Given the description of an element on the screen output the (x, y) to click on. 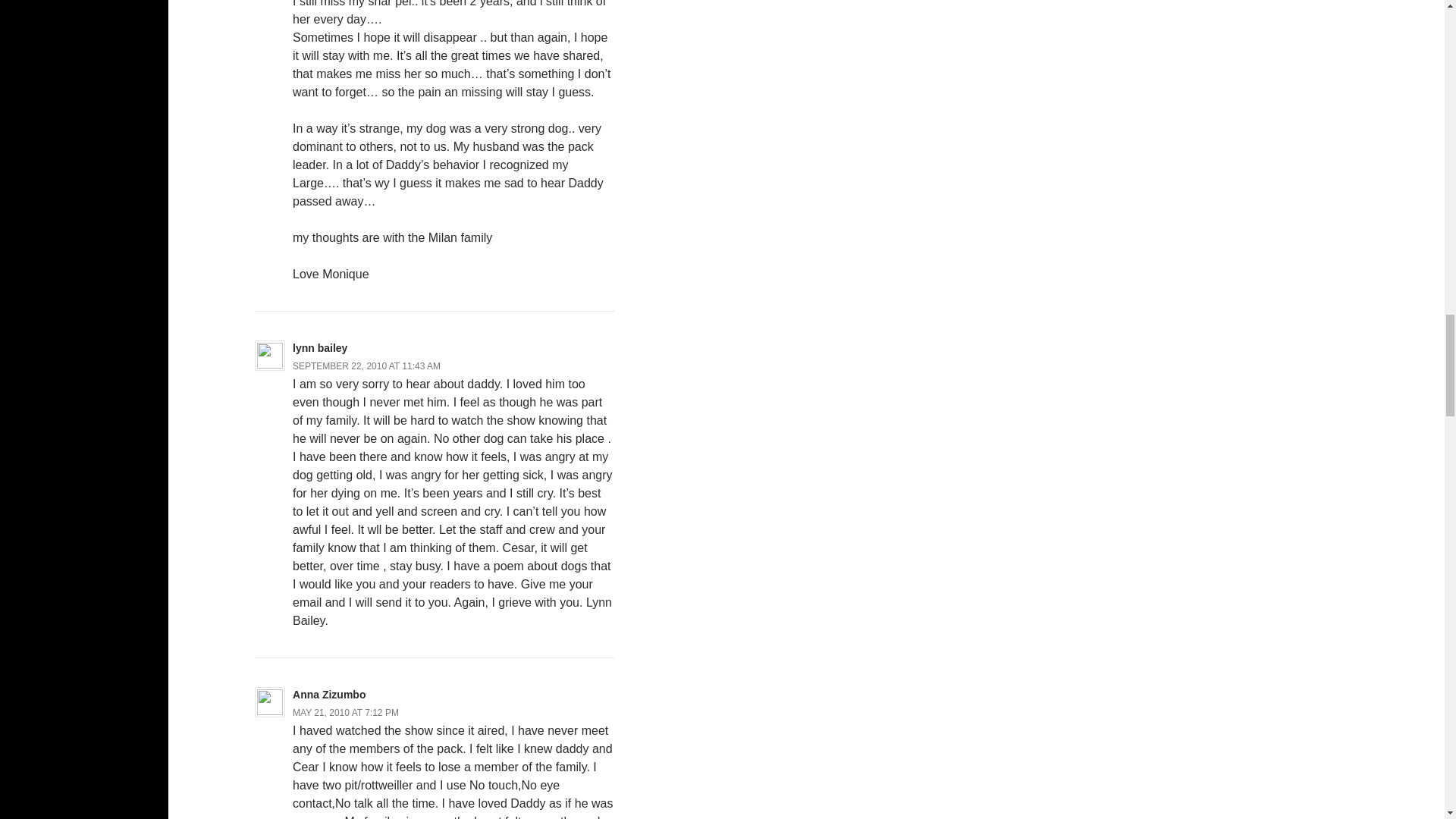
SEPTEMBER 22, 2010 AT 11:43 AM (366, 366)
MAY 21, 2010 AT 7:12 PM (345, 712)
